Given the description of an element on the screen output the (x, y) to click on. 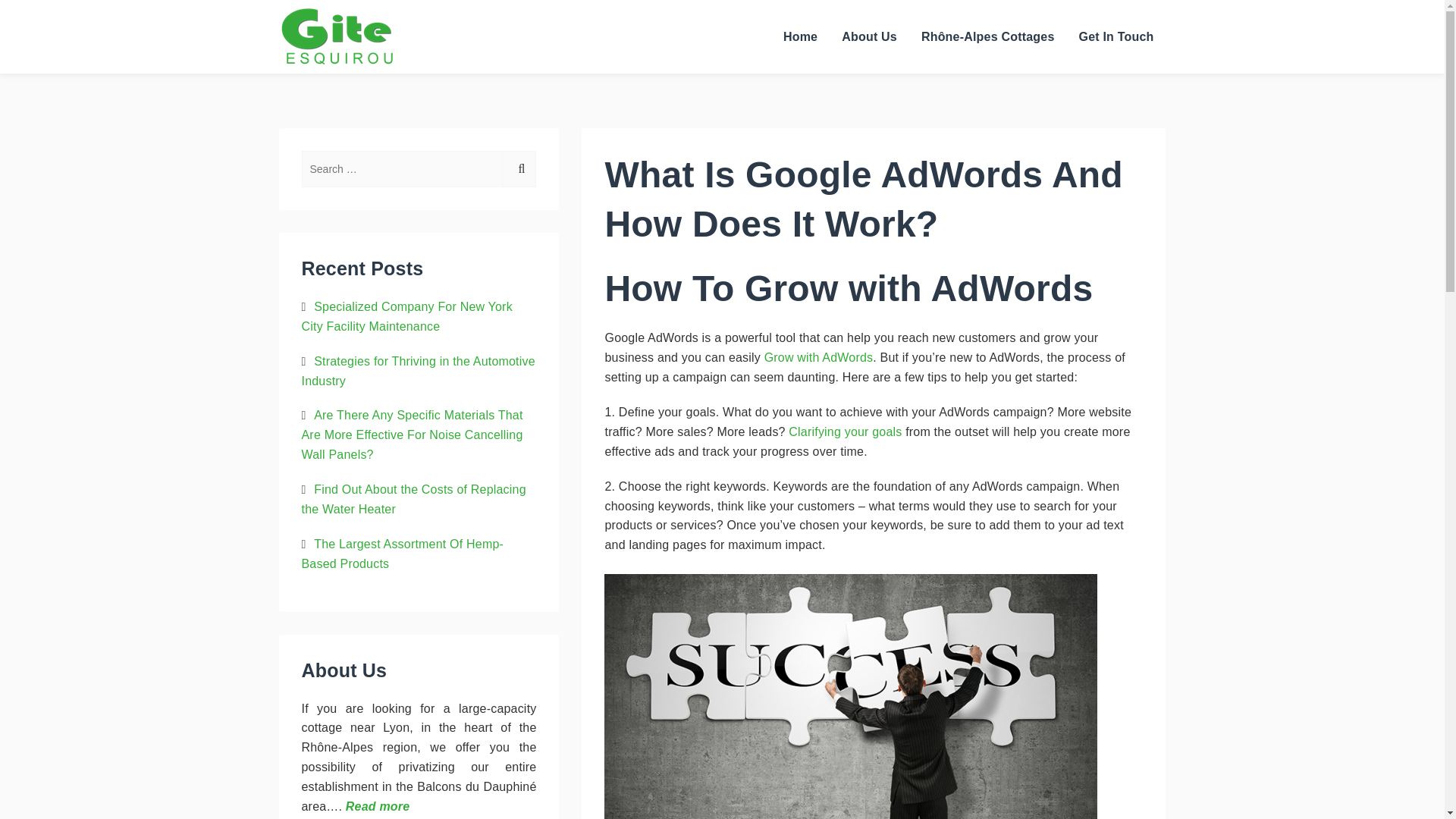
The Largest Assortment Of Hemp-Based Products (402, 553)
Search (518, 168)
Strategies for Thriving in the Automotive Industry (418, 370)
Find Out About the Costs of Replacing the Water Heater (413, 499)
Search (1144, 99)
Clarifying your goals (845, 431)
Read more (378, 806)
About Us (868, 37)
Search (518, 168)
Get In Touch (1115, 37)
Search (518, 168)
Grow with AdWords (818, 357)
Specialized Company For New York City Facility Maintenance (406, 316)
Home (800, 37)
